Given the description of an element on the screen output the (x, y) to click on. 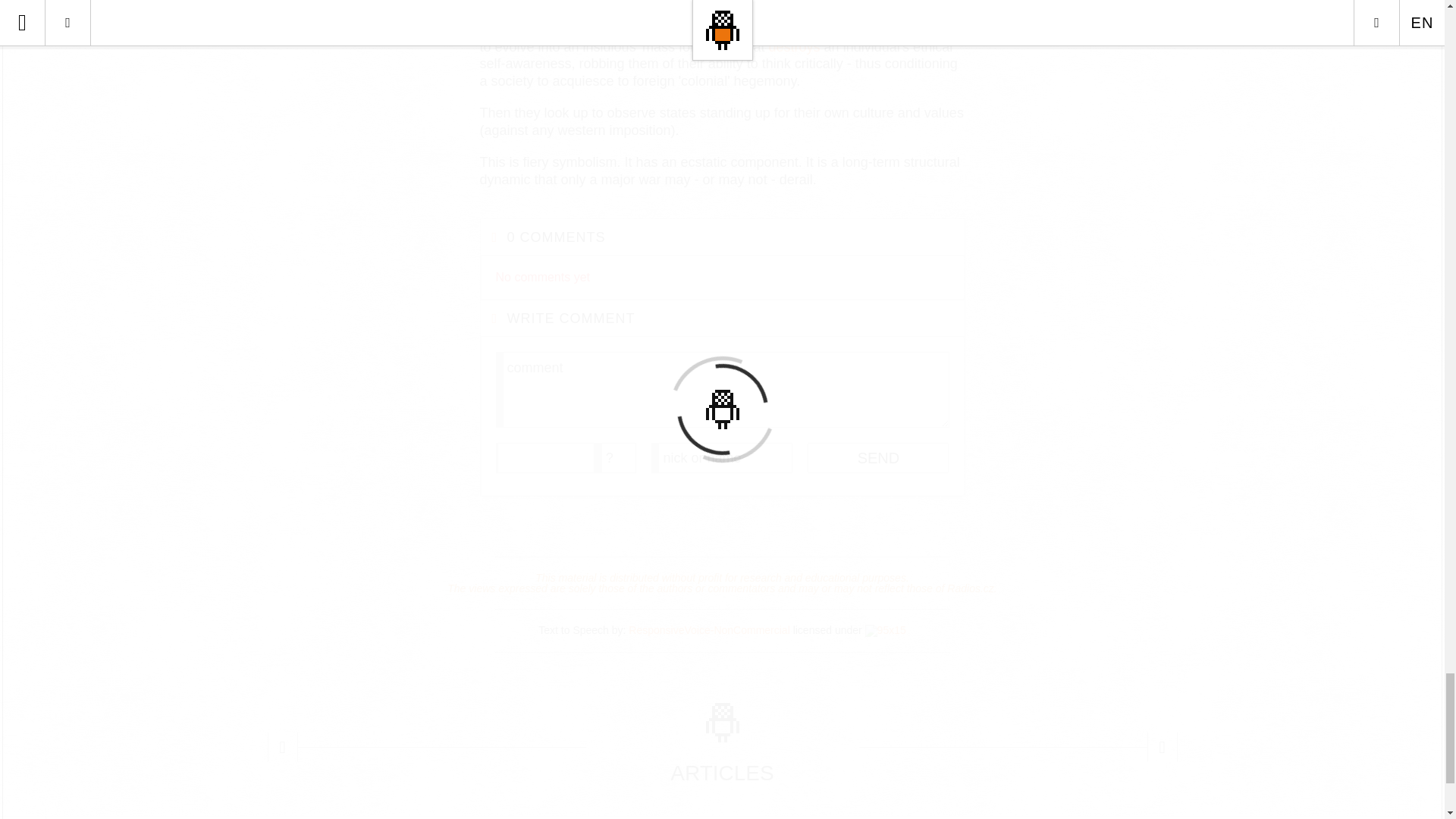
ResponsiveVoice Text To Speech (884, 630)
back (22, 817)
nick or name (721, 458)
The world order already changed in 2022 (281, 747)
send (878, 458)
The Next One: Autumn 2024 (1161, 747)
? (615, 458)
